Given the description of an element on the screen output the (x, y) to click on. 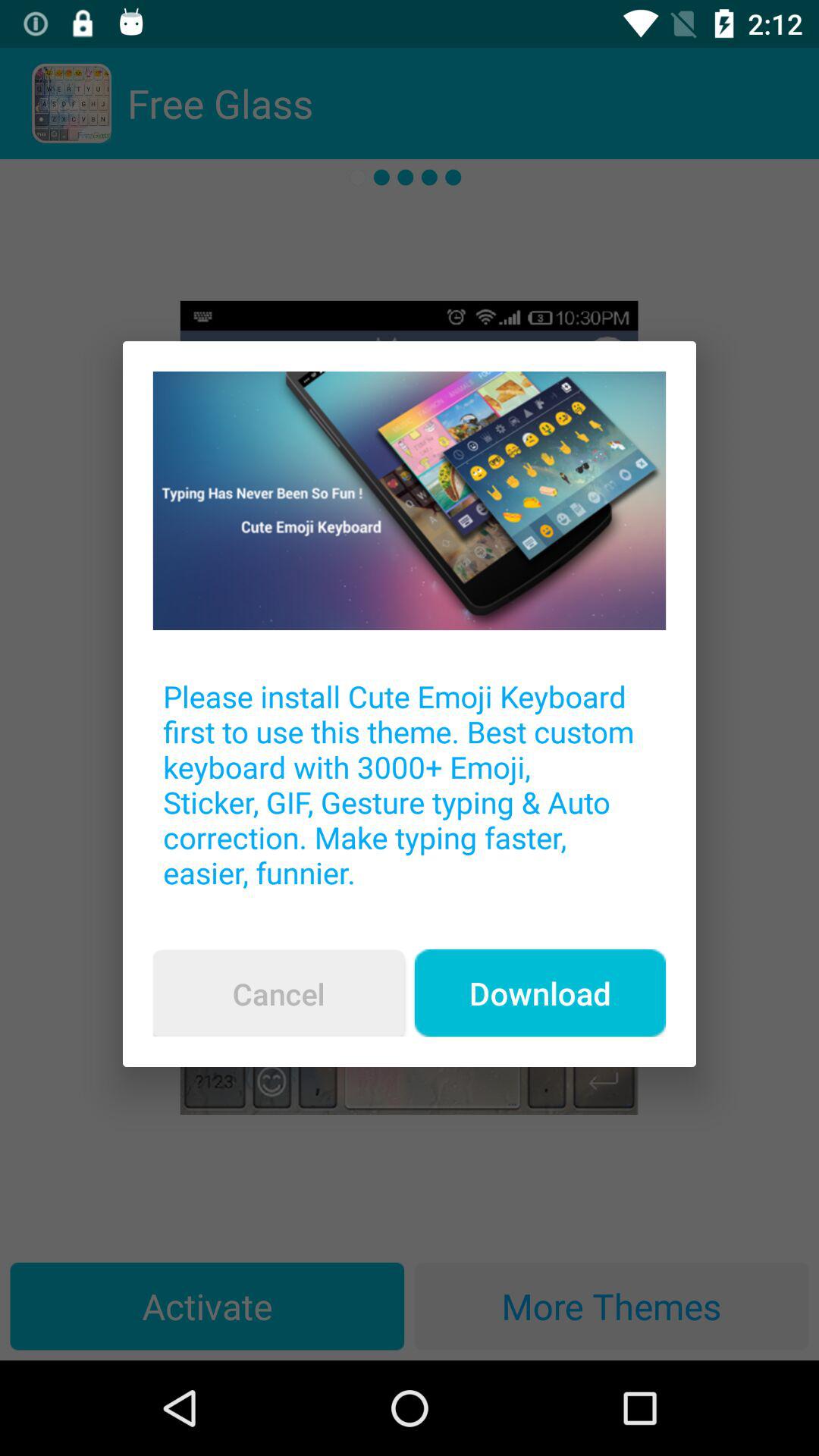
select the item below the please install cute item (540, 992)
